Given the description of an element on the screen output the (x, y) to click on. 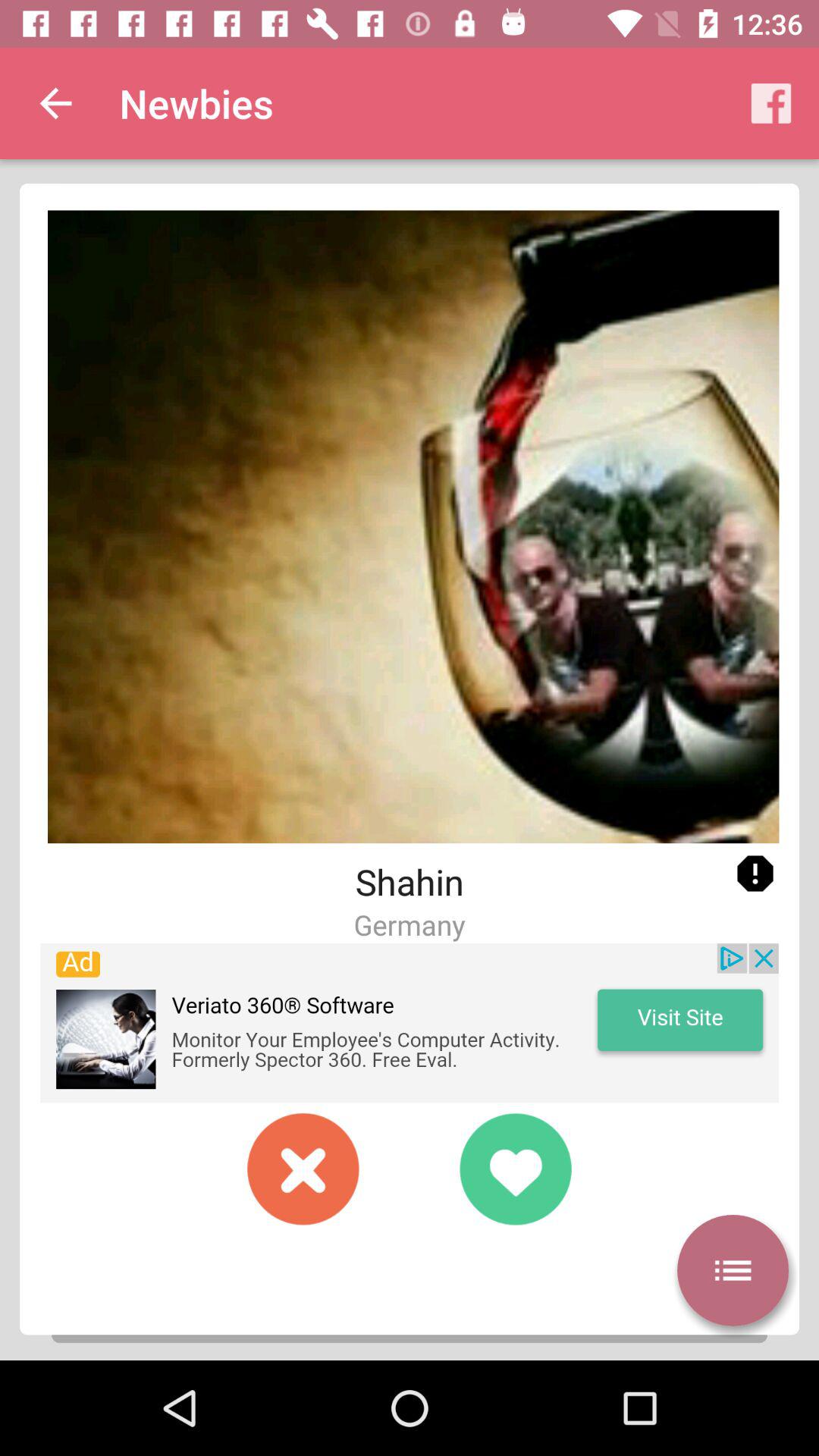
add to favorite (515, 1169)
